Given the description of an element on the screen output the (x, y) to click on. 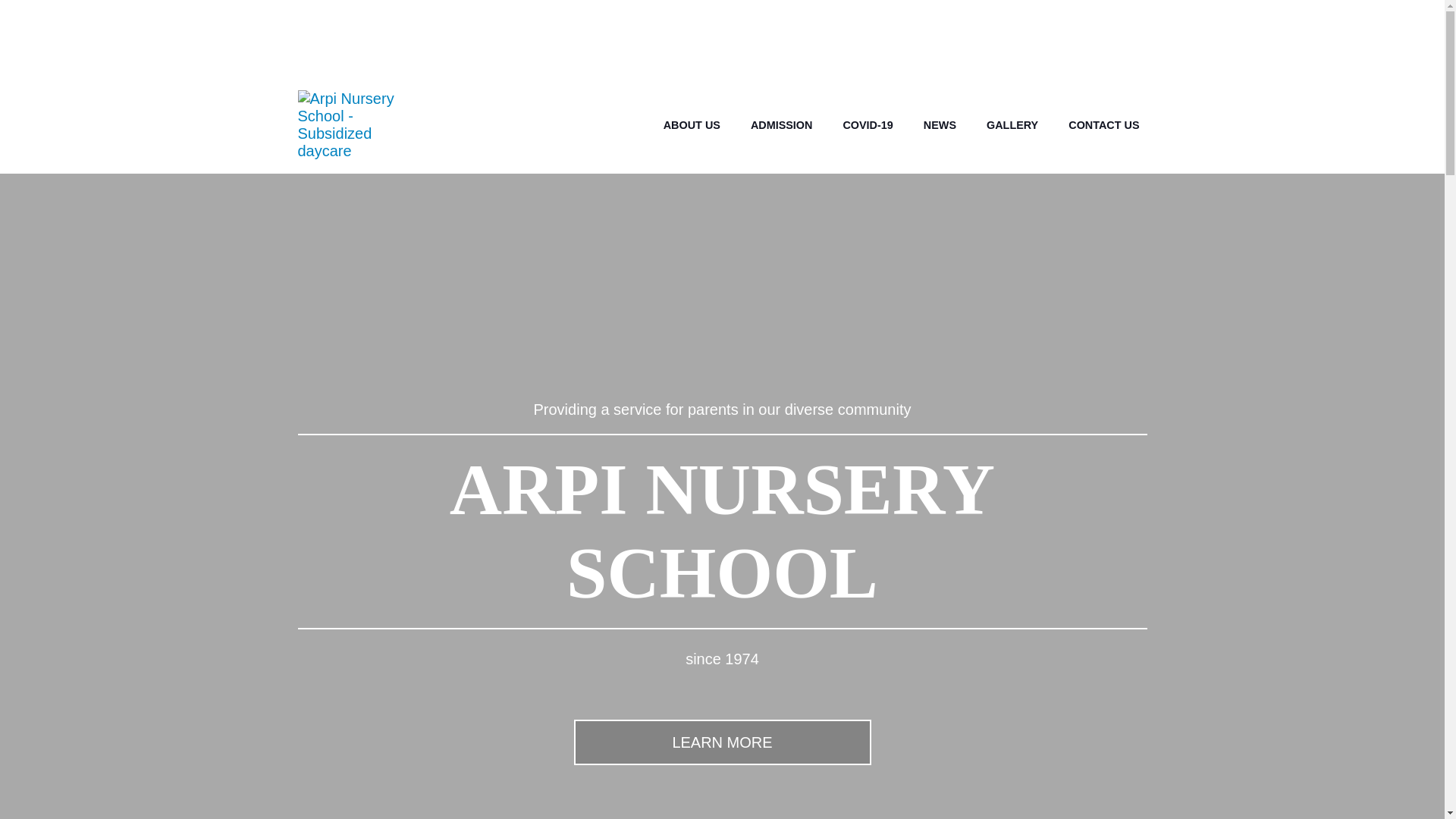
ABOUT US Element type: text (691, 124)
COVID-19 Element type: text (867, 124)
LEARN MORE Element type: text (721, 742)
ADMISSION Element type: text (781, 124)
GALLERY Element type: text (1012, 124)
CONTACT US Element type: text (1103, 124)
NEWS Element type: text (939, 124)
